Given the description of an element on the screen output the (x, y) to click on. 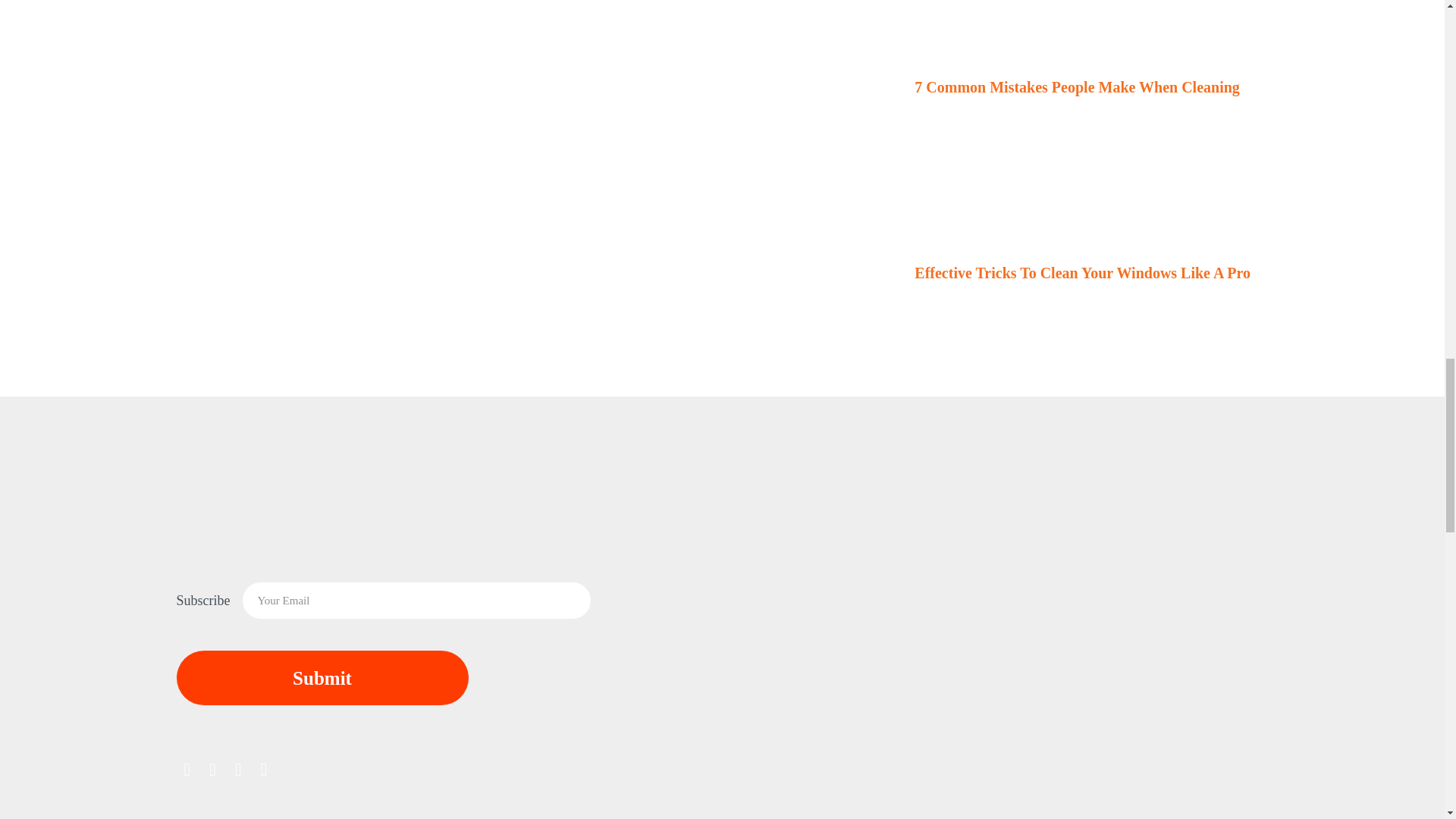
Submit (321, 677)
